Given the description of an element on the screen output the (x, y) to click on. 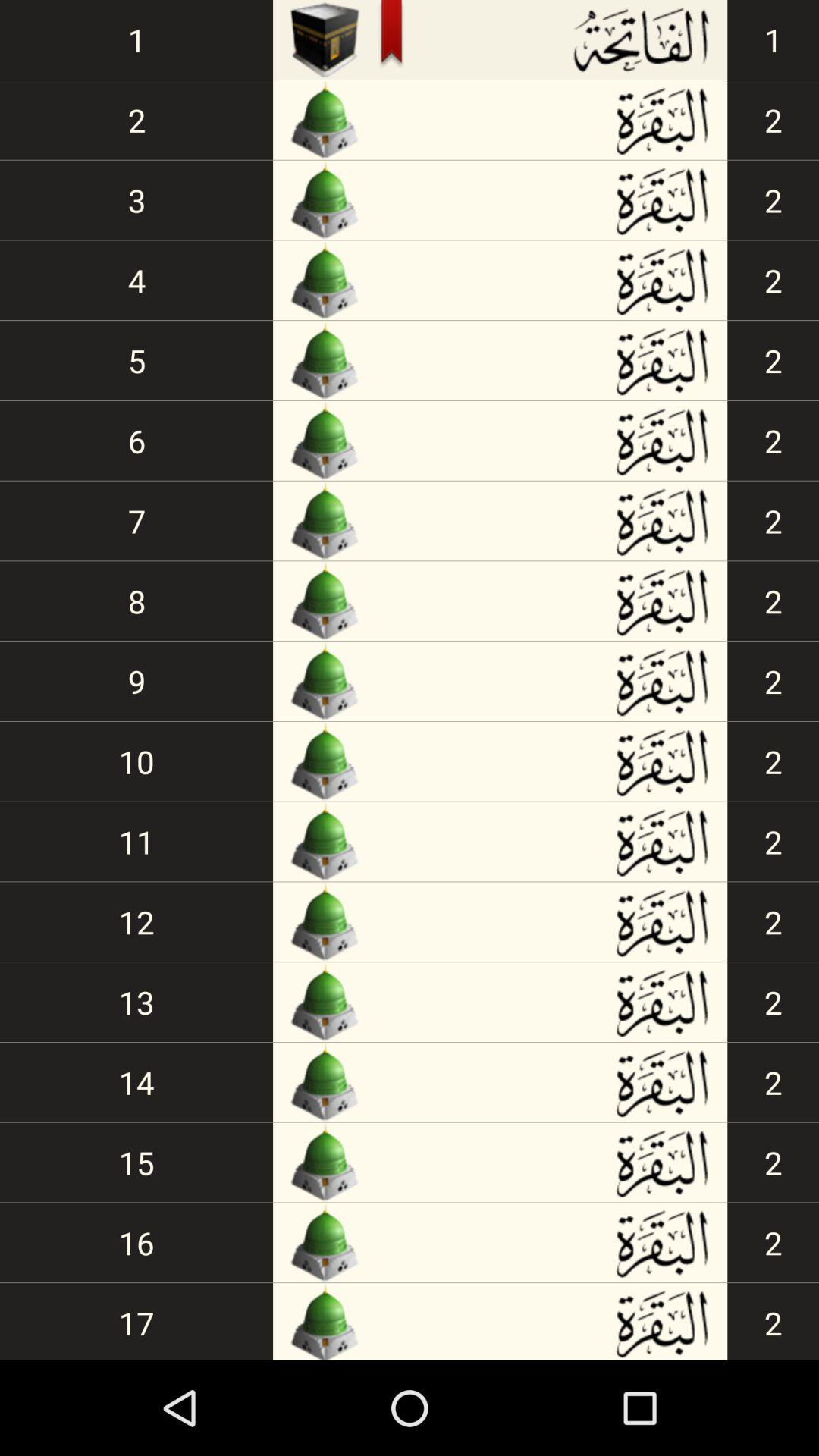
scroll until the 16 (136, 1242)
